Given the description of an element on the screen output the (x, y) to click on. 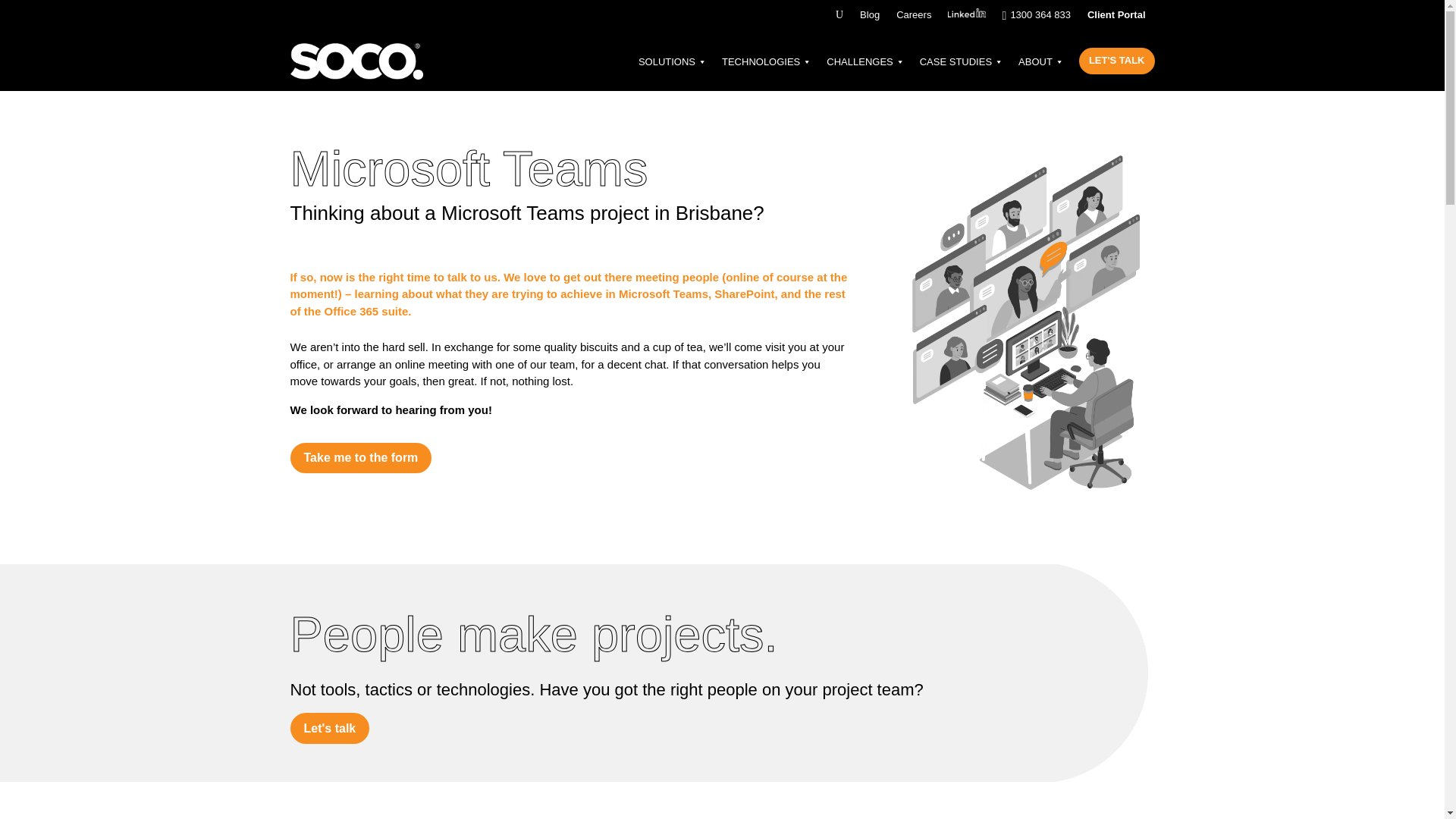
SOLUTIONS (672, 62)
Client Portal (1116, 18)
Careers (913, 18)
Blog (869, 18)
soco-tm-logo-white (355, 61)
